Given the description of an element on the screen output the (x, y) to click on. 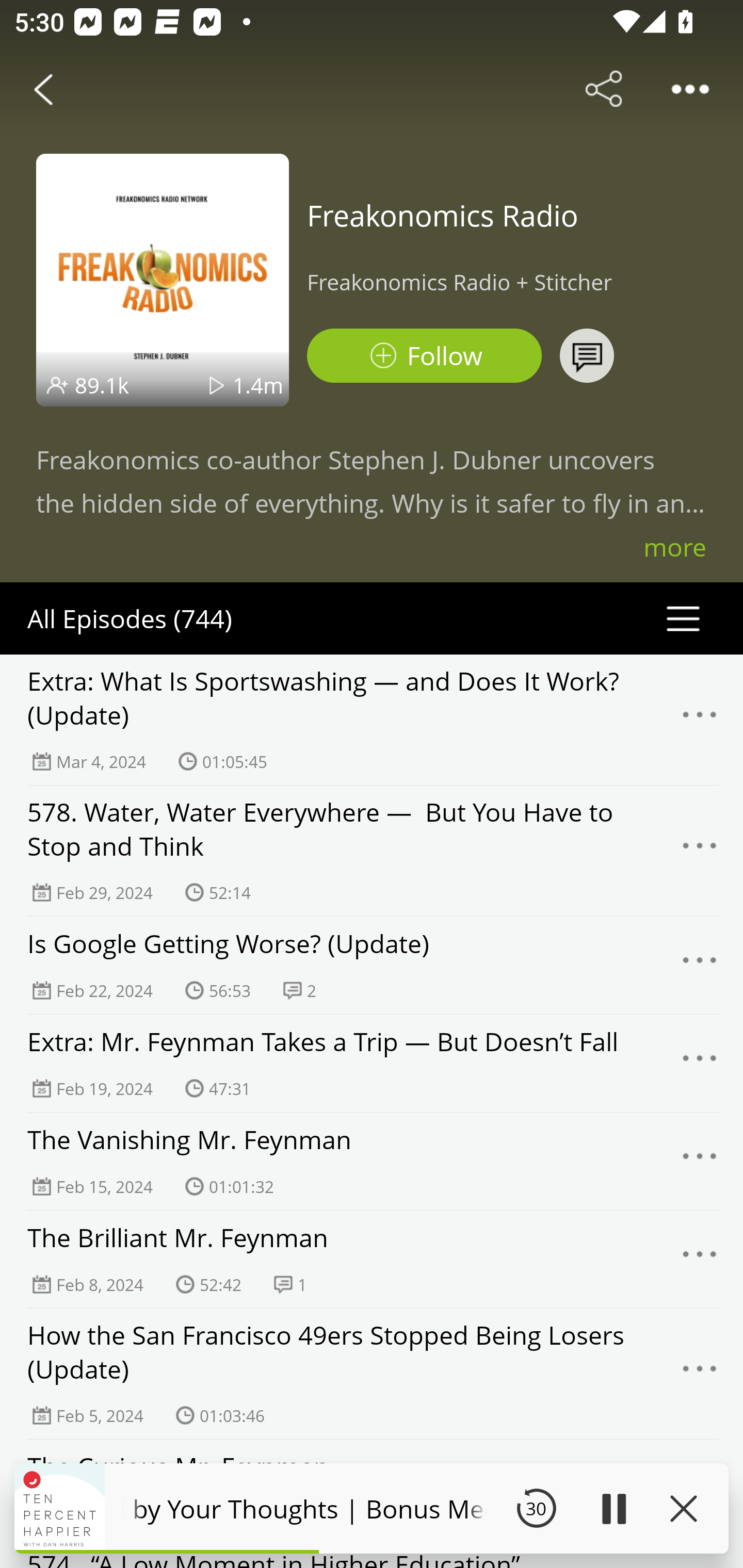
Back (43, 88)
Podbean Follow (423, 355)
89.1k (102, 384)
more (674, 546)
Menu (699, 720)
Menu (699, 850)
Menu (699, 964)
Menu (699, 1063)
Menu (699, 1160)
The Brilliant Mr. Feynman Feb 8, 2024 52:42 1 Menu (371, 1259)
Menu (699, 1259)
Menu (699, 1374)
Play (613, 1507)
30 Seek Backward (536, 1508)
